Given the description of an element on the screen output the (x, y) to click on. 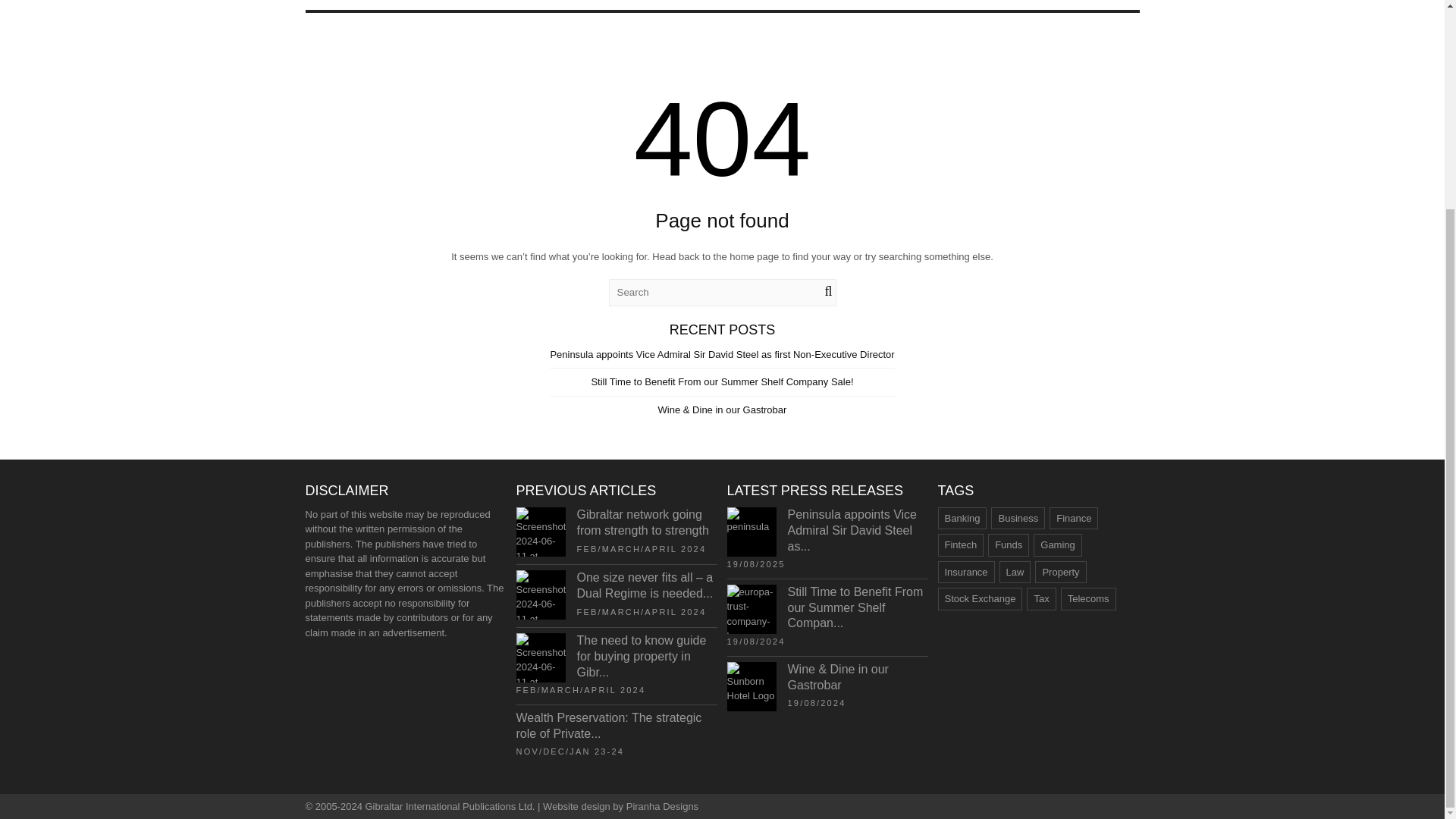
Law (1014, 572)
Finance (1073, 517)
2 topics (1060, 572)
5 topics (1008, 544)
Wealth Preservation: The strategic role of Private... (608, 725)
Gaming (1057, 544)
Stock Exchange (979, 599)
2 topics (1040, 599)
2 topics (1073, 517)
